Given the description of an element on the screen output the (x, y) to click on. 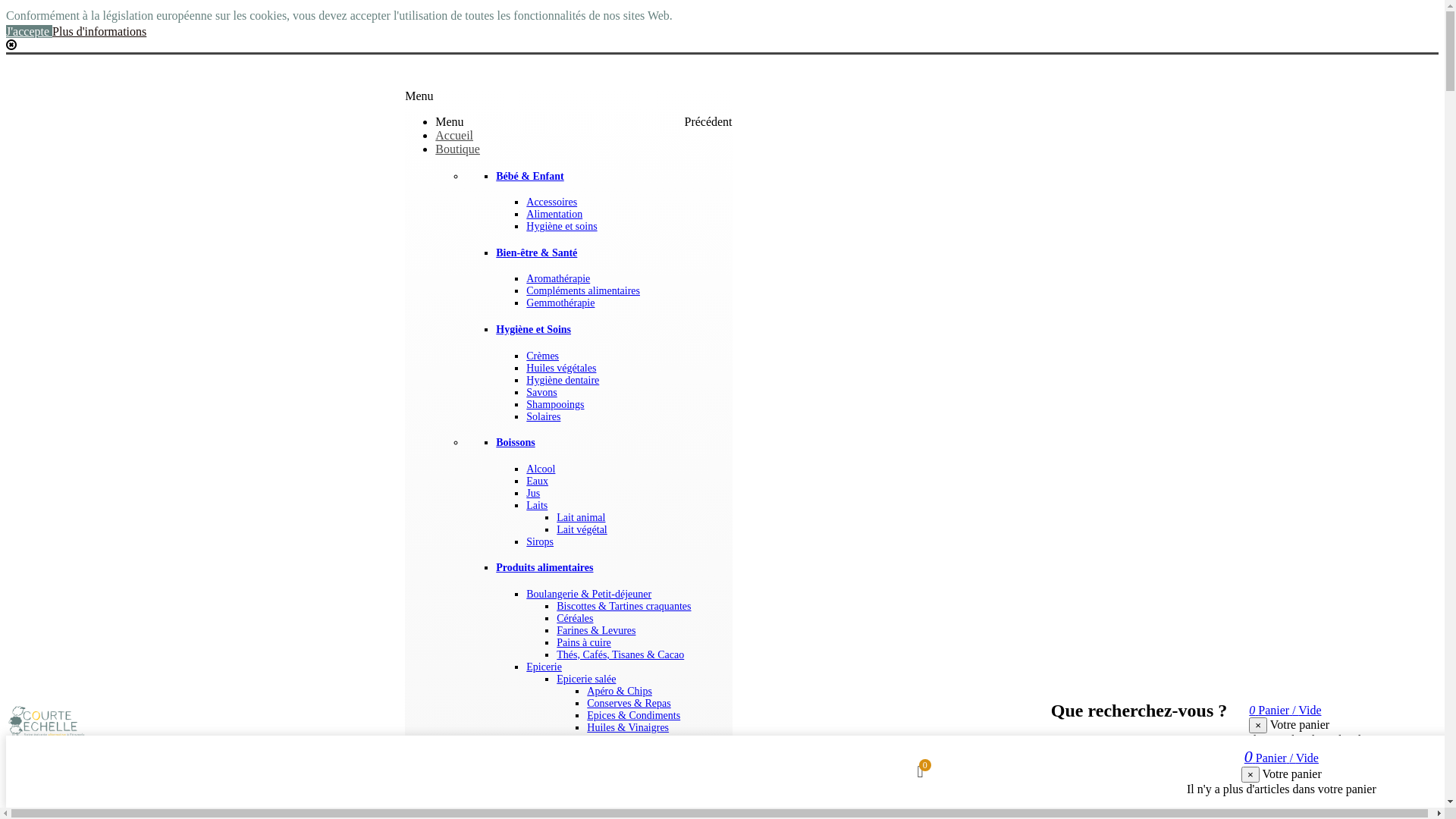
Sirops Element type: text (539, 541)
0 Element type: text (920, 772)
Produits alimentaires Element type: text (544, 567)
0 Panier / Vide Element type: text (1284, 709)
Accueil Element type: text (454, 134)
Huiles & Vinaigres Element type: text (627, 727)
Conserves & Repas Element type: text (628, 703)
Eaux Element type: text (537, 480)
069 22 92 74 Element type: text (44, 71)
Jus Element type: text (532, 492)
Recherche Element type: text (1218, 744)
Bonbons & Desserts Element type: text (630, 812)
Biscottes & Tartines craquantes Element type: text (623, 605)
Solaires Element type: text (543, 416)
Shampooings Element type: text (554, 404)
Savons Element type: text (541, 392)
Biscuits Element type: text (603, 800)
Boissons Element type: text (514, 442)
Alcool Element type: text (540, 468)
Epicerie Element type: text (543, 666)
Epices & Condiments Element type: text (633, 715)
Accessoires Element type: text (551, 201)
Boutique Element type: text (457, 148)
Lait animal Element type: text (580, 517)
Plus d'informations Element type: text (99, 31)
Laits Element type: text (536, 505)
Farines & Levures Element type: text (595, 630)
Alimentation Element type: text (554, 213)
Soupes Element type: text (601, 775)
J'accepte Element type: text (29, 31)
0 Panier / Vide Element type: text (1281, 757)
